Given the description of an element on the screen output the (x, y) to click on. 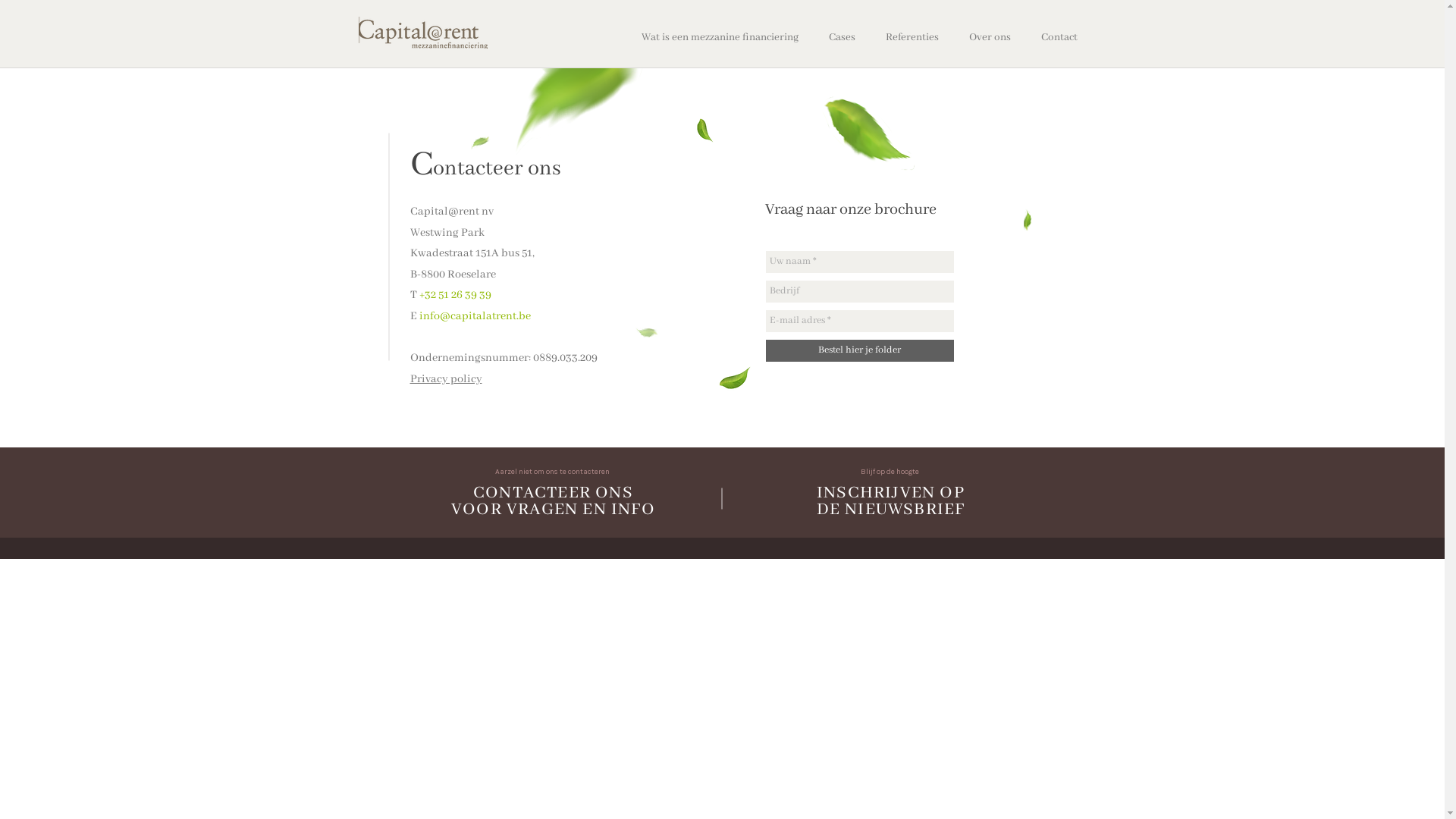
Bestel hier je folder Element type: text (859, 350)
Referenties Element type: text (911, 37)
Contact Element type: text (1058, 37)
Wat is een mezzanine financiering Element type: text (719, 37)
CONTACTEER ONS
VOOR VRAGEN EN INFO Element type: text (553, 499)
Over ons Element type: text (989, 37)
DE NIEUWSBRIEF Element type: text (890, 507)
Cases Element type: text (840, 37)
Privacy policy Element type: text (445, 378)
+32 51 26 39 39 Element type: text (454, 294)
info@capitalatrent.be Element type: text (474, 316)
INSCHRIJVEN OP Element type: text (890, 491)
